Given the description of an element on the screen output the (x, y) to click on. 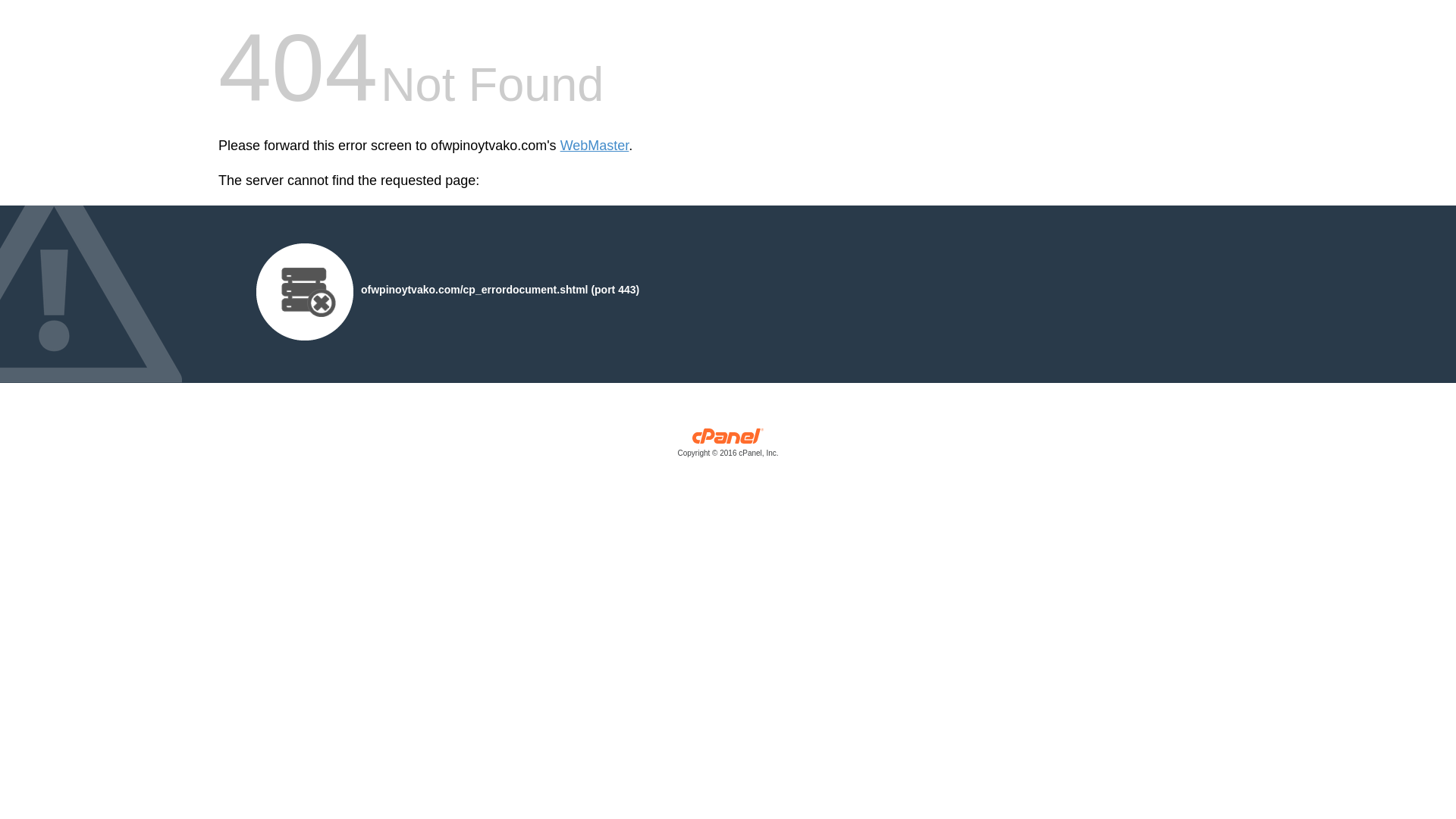
cPanel, Inc. (727, 446)
WebMaster (594, 145)
